Given the description of an element on the screen output the (x, y) to click on. 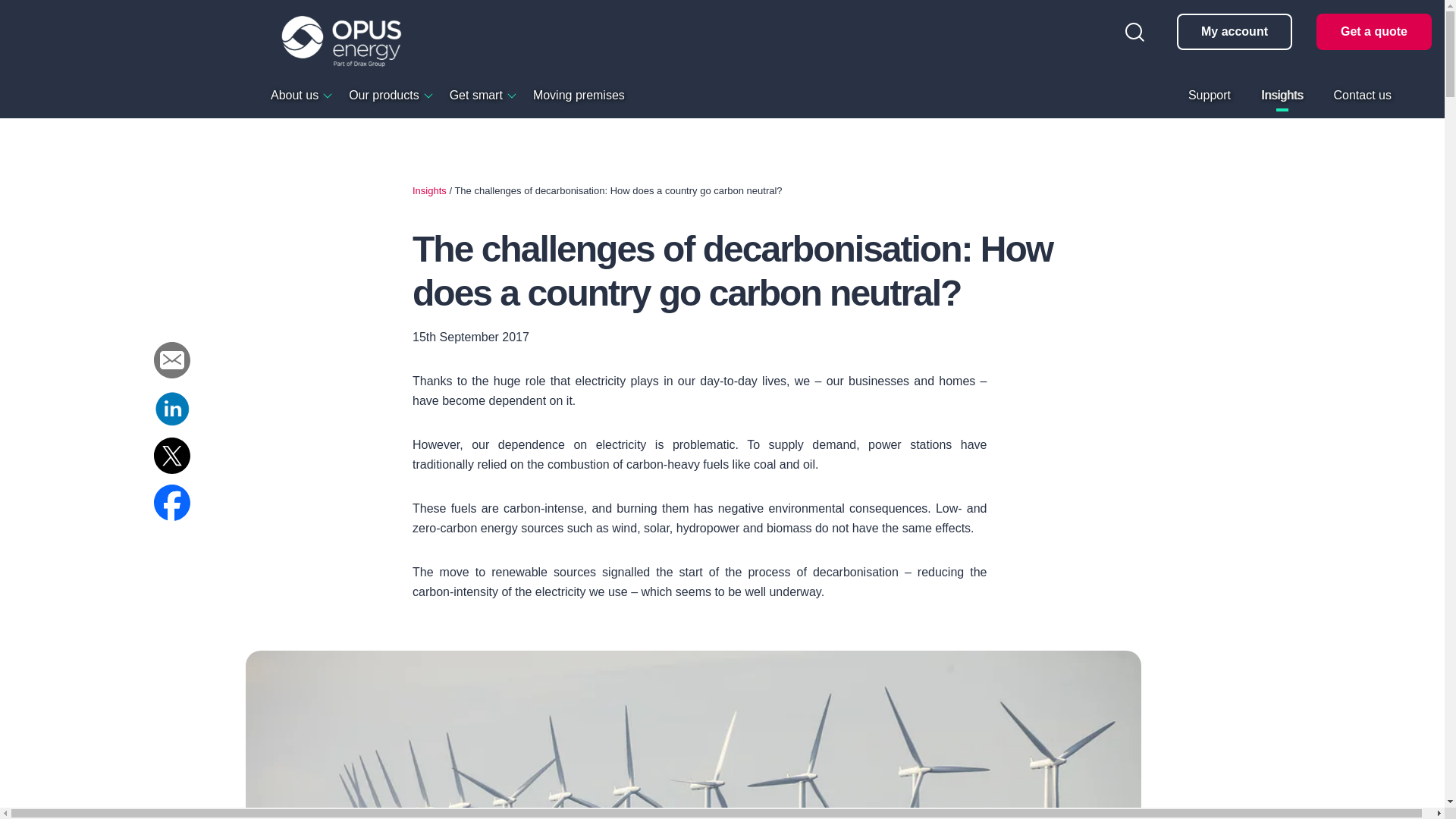
Moving premises (578, 95)
Menu (29, 48)
Get a quote (1373, 31)
My account (1234, 31)
My Account (1234, 31)
Get smart (475, 95)
Our products (384, 95)
Support (1209, 95)
Insights (1281, 95)
Logo (342, 41)
Search (1134, 31)
Contact us (1362, 95)
Insights (429, 190)
About us (294, 95)
